Given the description of an element on the screen output the (x, y) to click on. 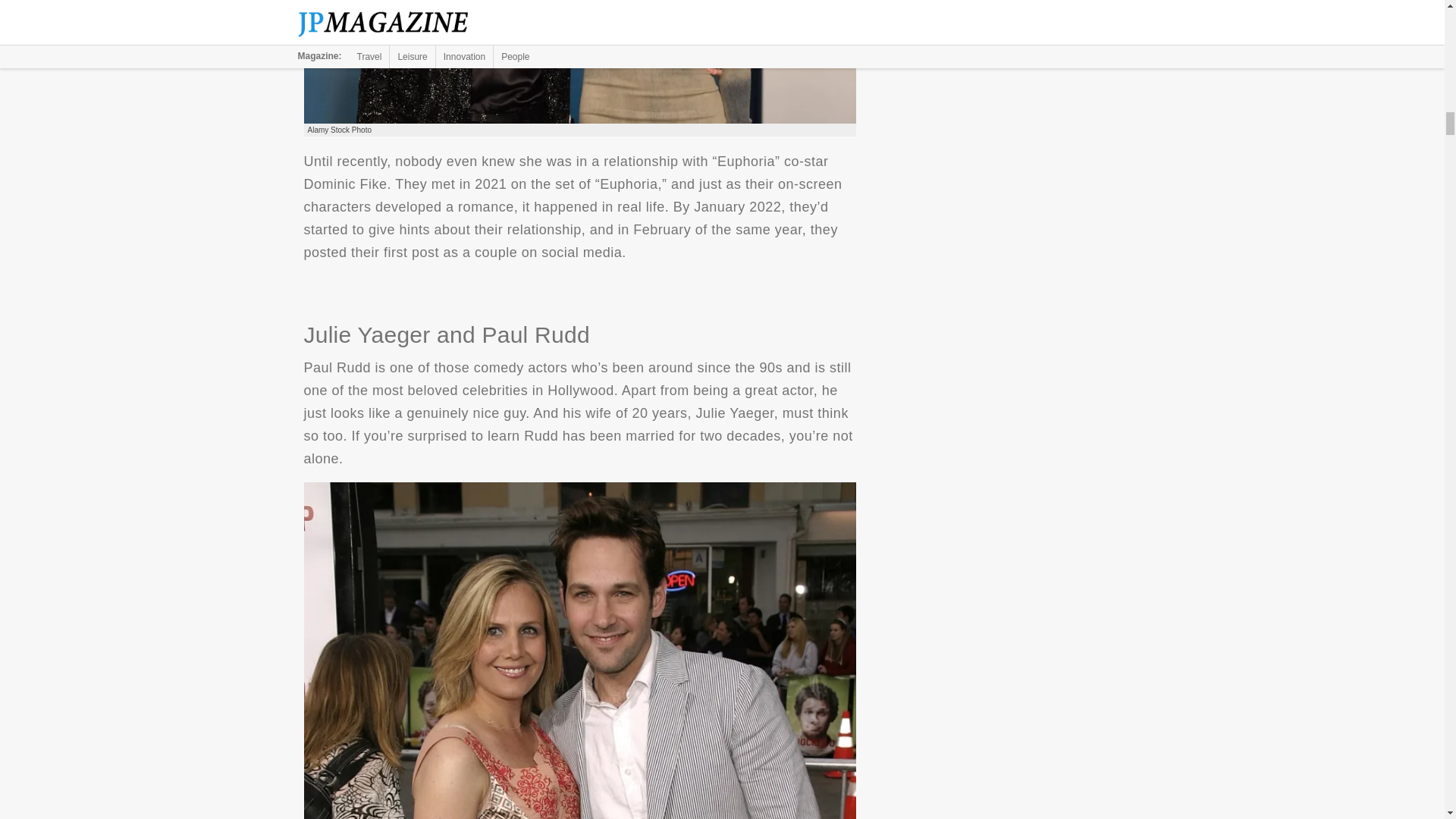
Hunter Schafer and Dominic Fike (579, 62)
